Given the description of an element on the screen output the (x, y) to click on. 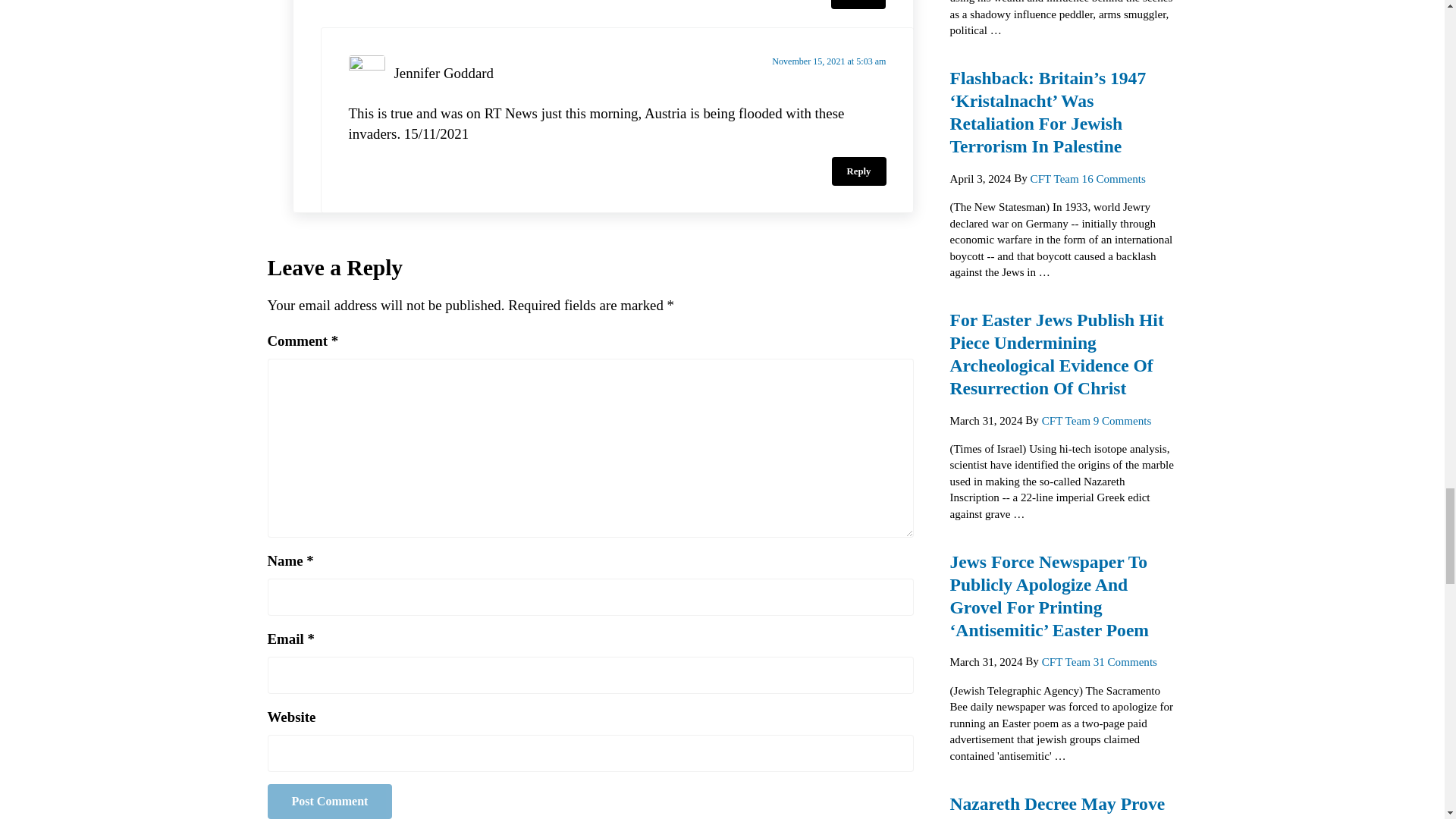
Post Comment (328, 801)
